Given the description of an element on the screen output the (x, y) to click on. 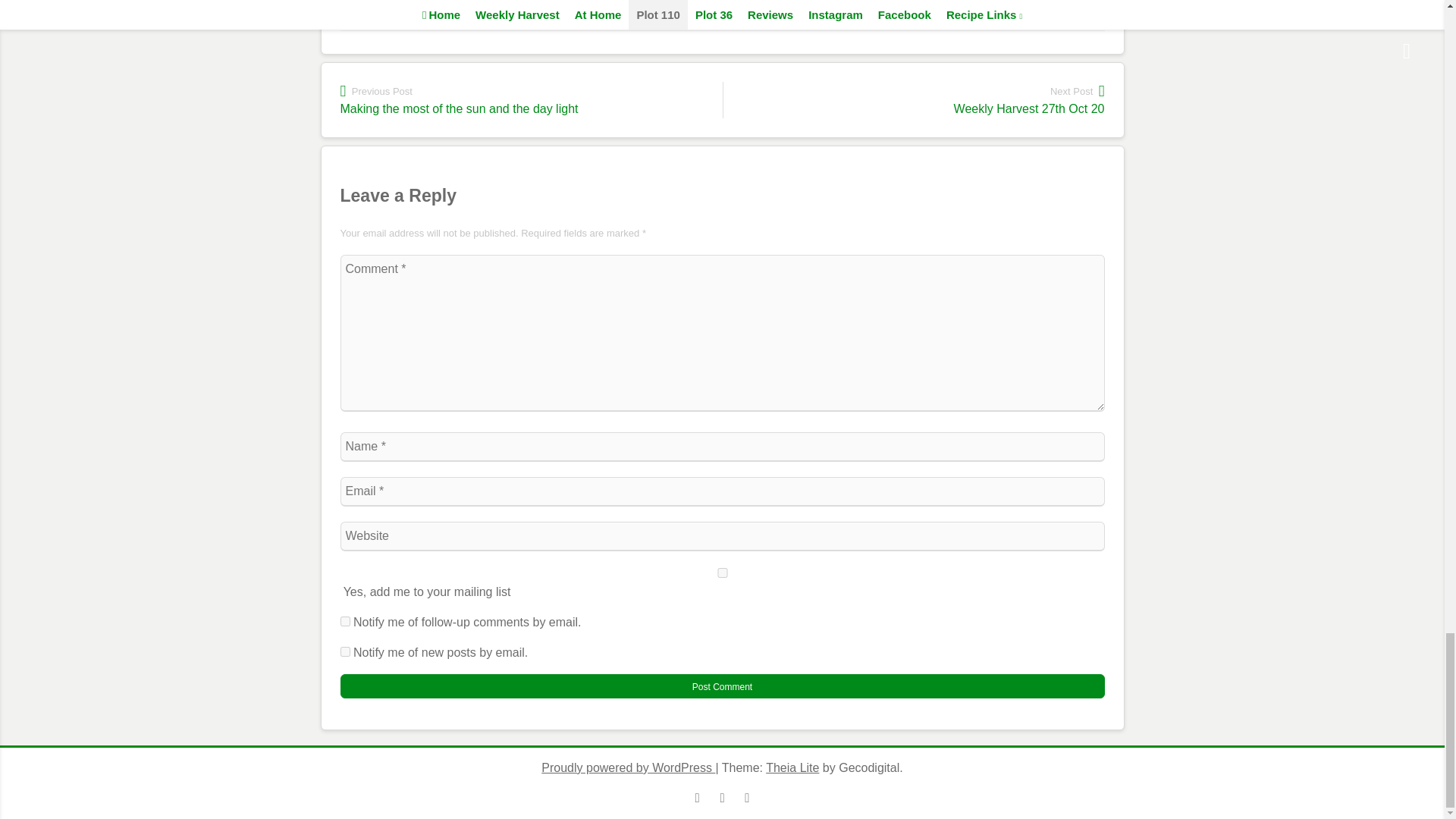
subscribe (344, 651)
1 (721, 573)
Post Comment (721, 686)
subscribe (344, 621)
